Given the description of an element on the screen output the (x, y) to click on. 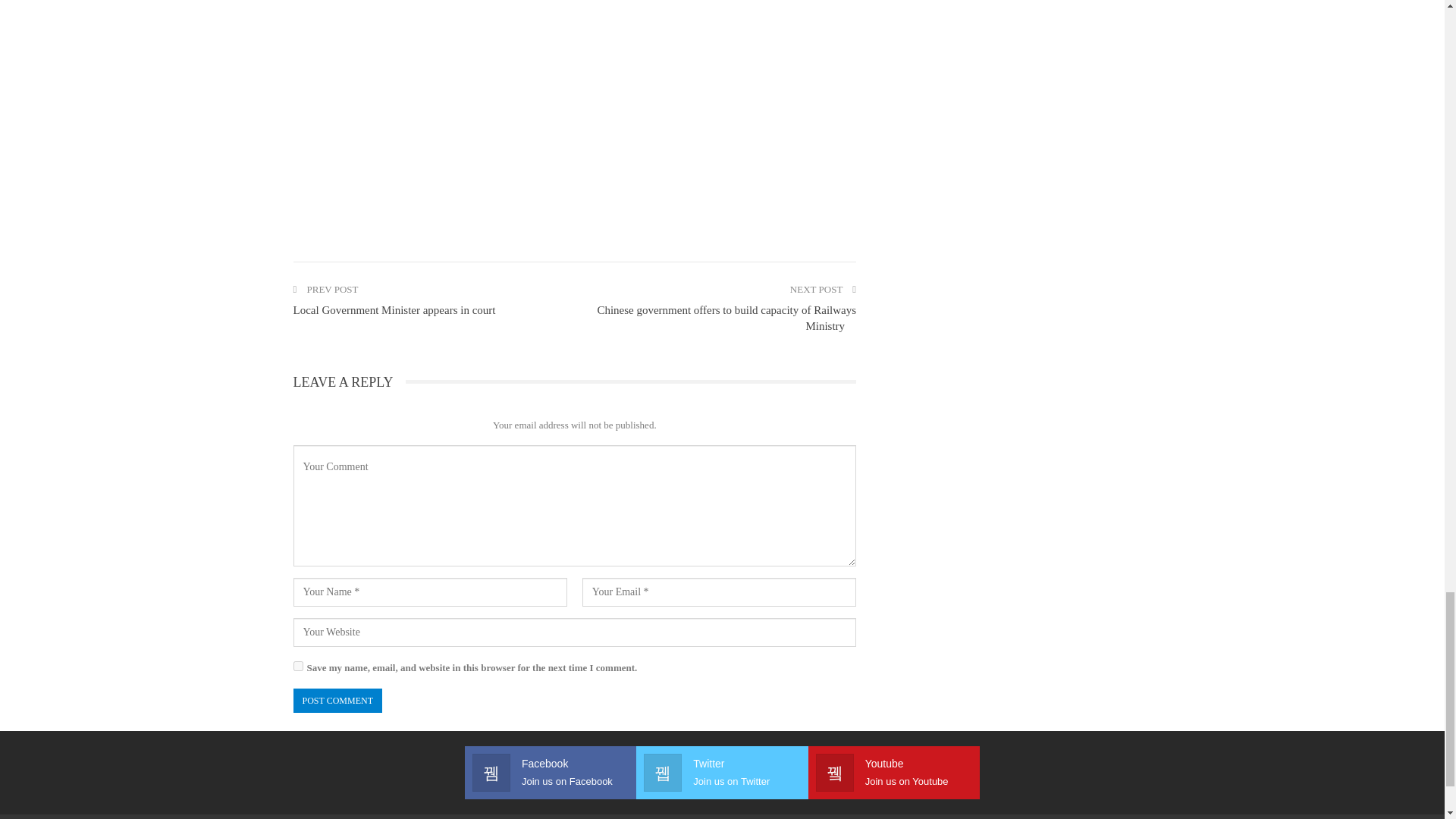
Post Comment (336, 700)
Post Comment (336, 700)
yes (297, 665)
Local Government Minister appears in court (393, 309)
